Given the description of an element on the screen output the (x, y) to click on. 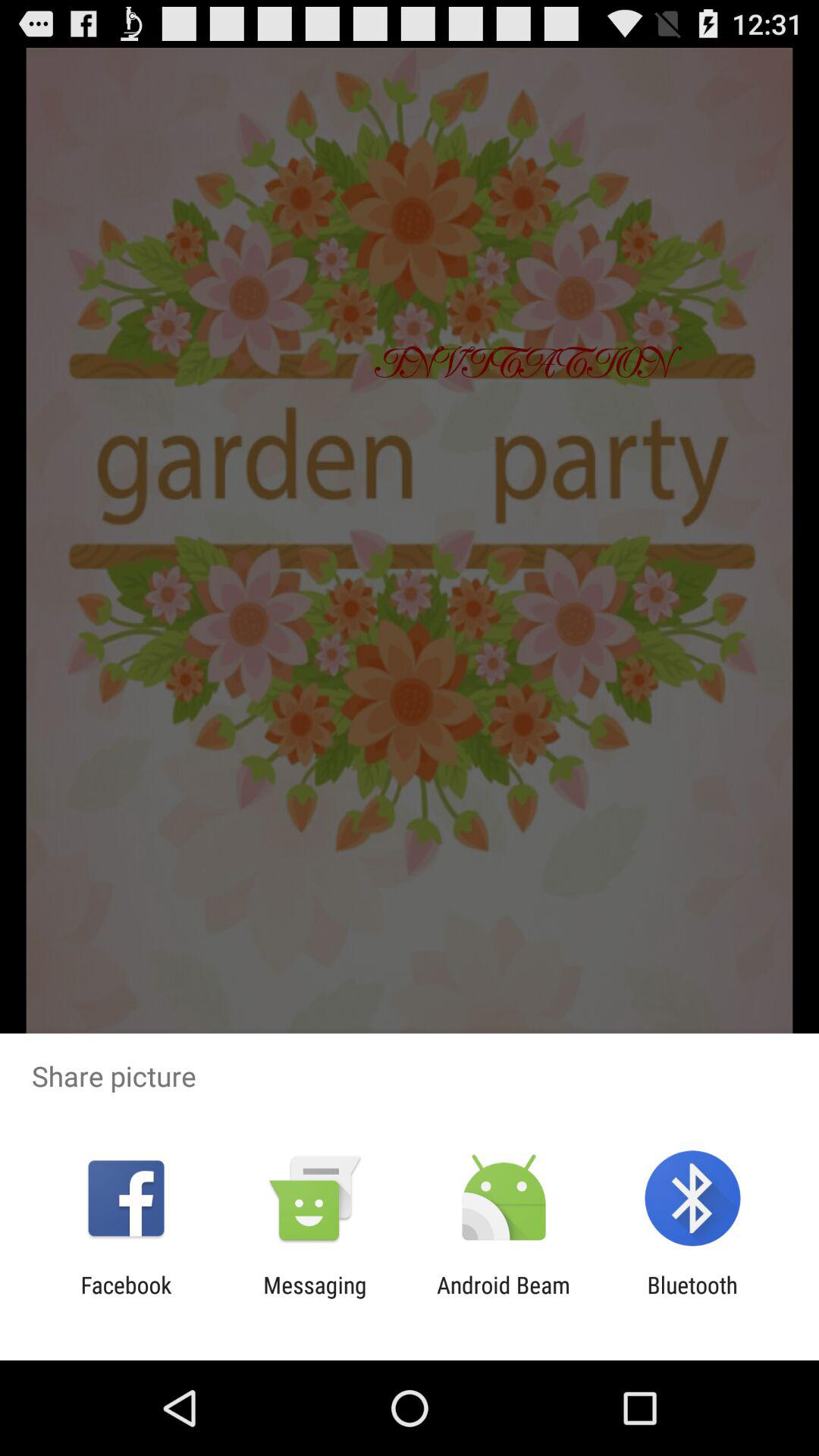
launch the icon to the right of messaging app (503, 1298)
